Given the description of an element on the screen output the (x, y) to click on. 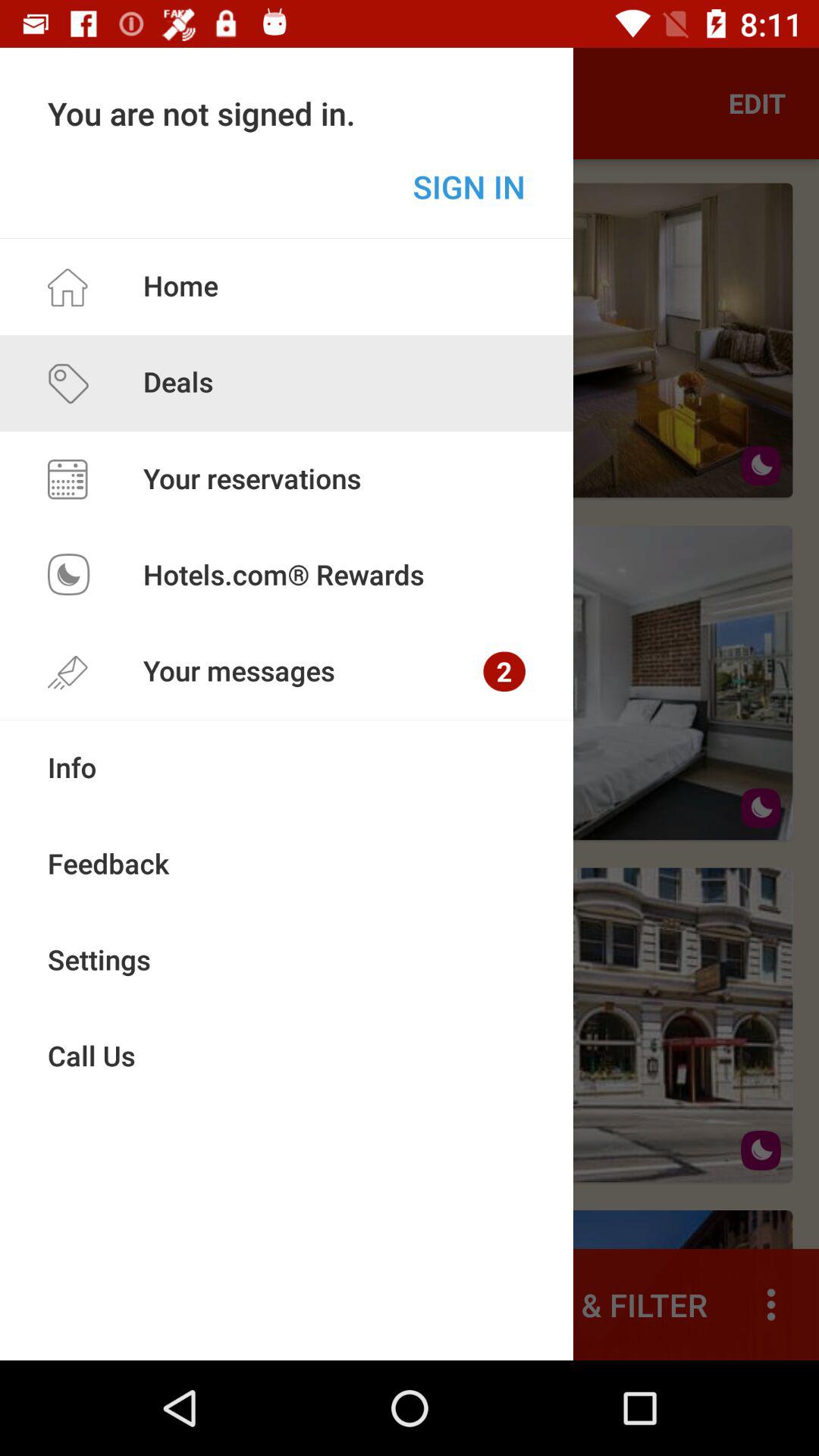
select the text  filter from bottom along with three dots icon (673, 1284)
